Given the description of an element on the screen output the (x, y) to click on. 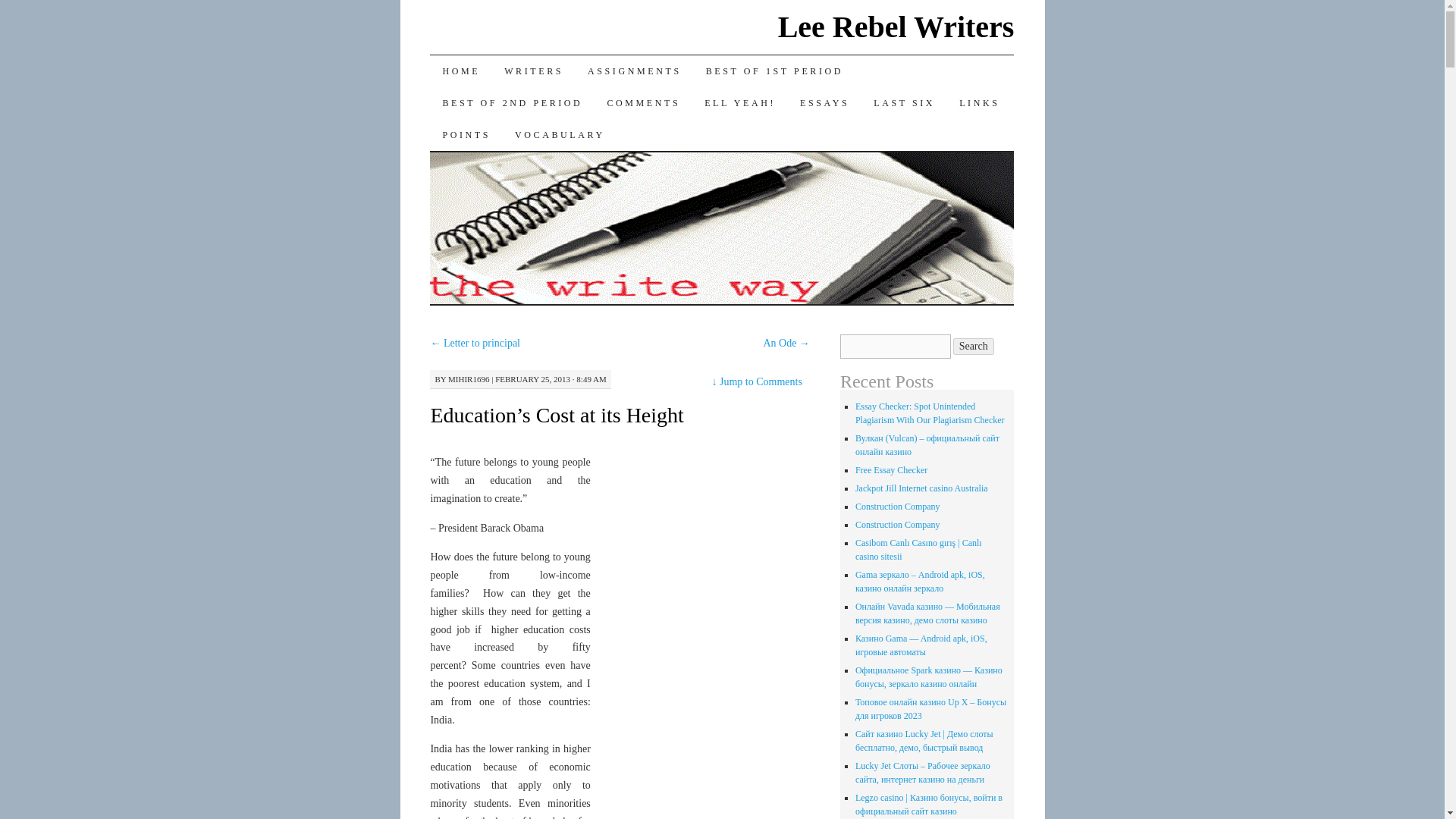
VOCABULARY (559, 134)
WRITERS (533, 70)
View all posts by mihir1696 (468, 379)
BEST OF 1ST PERIOD (775, 70)
Jackpot Jill Internet casino Australia (922, 488)
Construction Company (898, 524)
ESSAYS (824, 102)
SKIP TO CONTENT (440, 101)
ASSIGNMENTS (634, 70)
ELL YEAH! (740, 102)
Search (973, 346)
LAST SIX (904, 102)
Construction Company (898, 506)
LINKS (979, 102)
Lee Rebel Writers (895, 26)
